Given the description of an element on the screen output the (x, y) to click on. 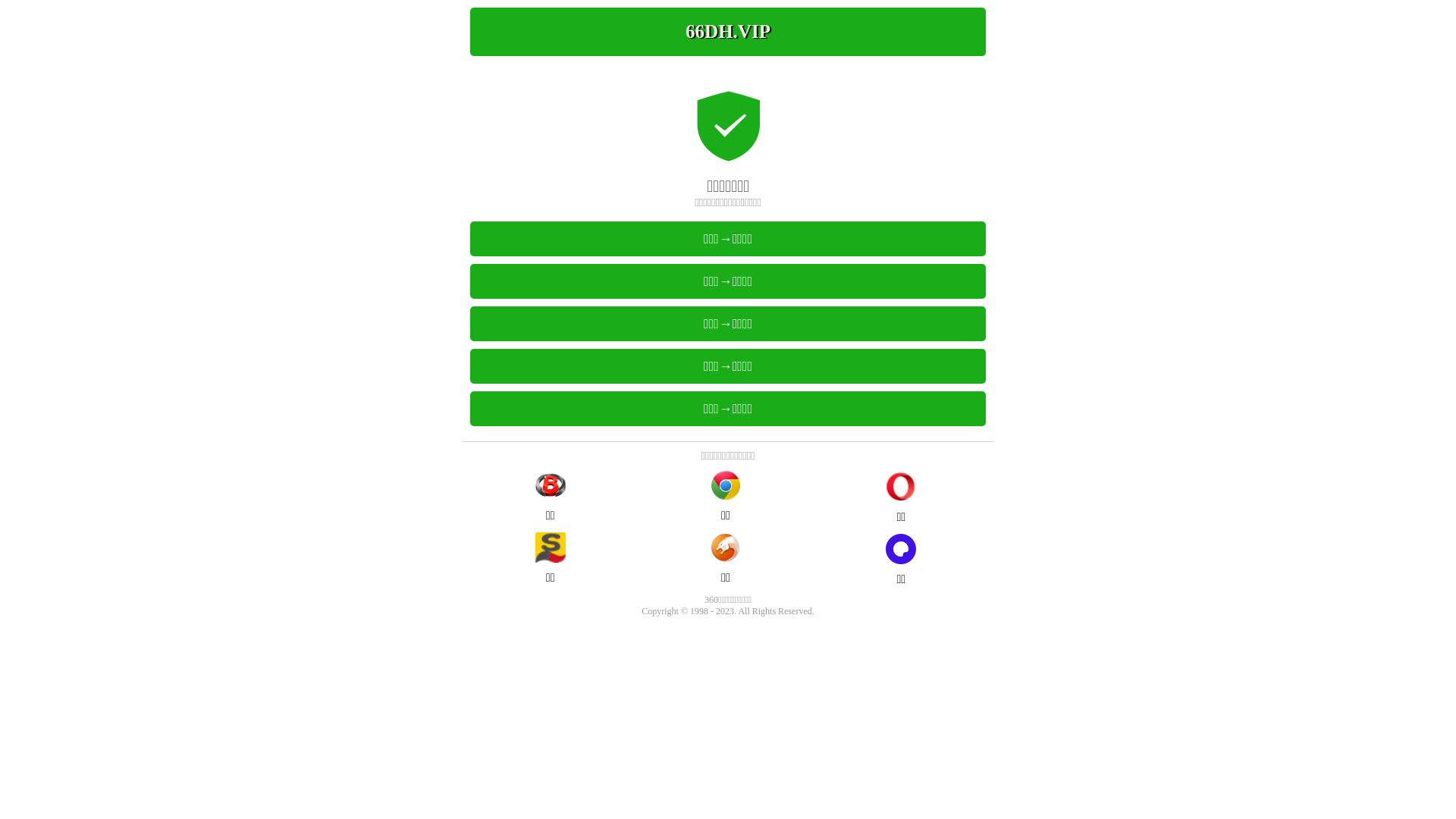
66DH.VIP Element type: text (727, 31)
